Given the description of an element on the screen output the (x, y) to click on. 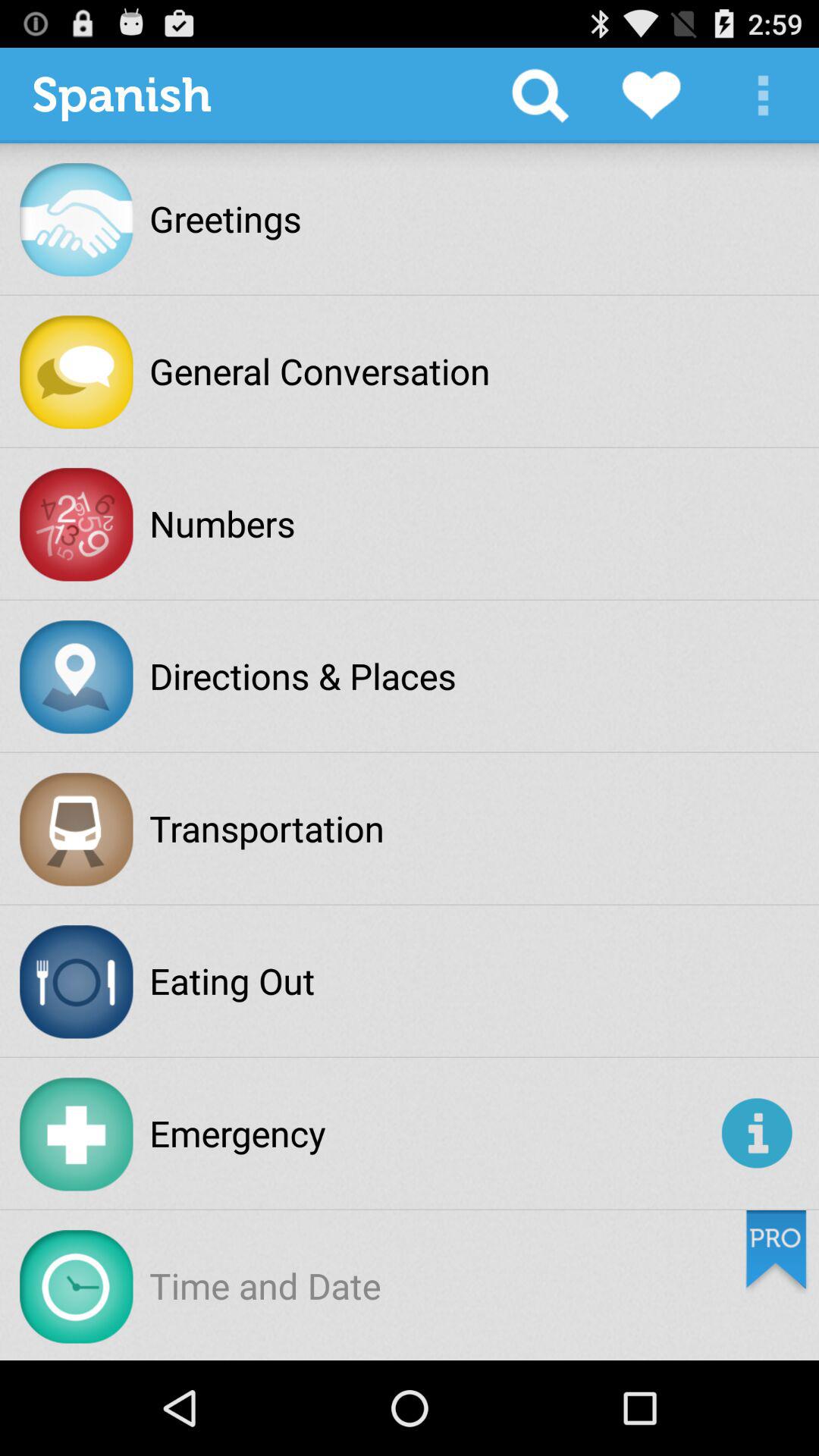
open emergency item (432, 1133)
